Given the description of an element on the screen output the (x, y) to click on. 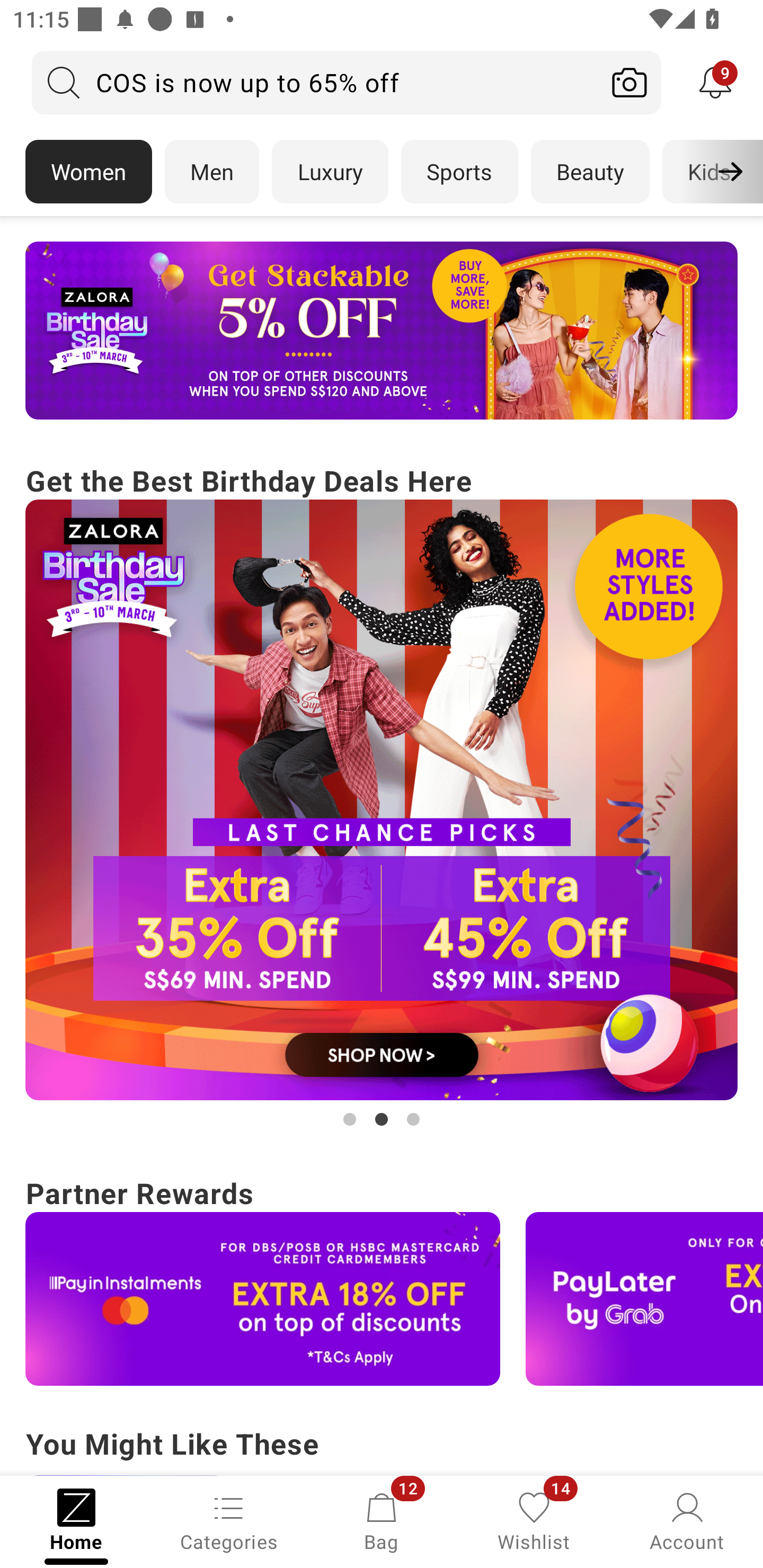
COS is now up to 65% off (314, 82)
Women (88, 171)
Men (211, 171)
Luxury (329, 171)
Sports (459, 171)
Beauty (590, 171)
Campaign banner (381, 330)
Get the Best Birthday Deals Here Campaign banner (381, 794)
Campaign banner (381, 800)
Partner Rewards Campaign banner Campaign banner (381, 1277)
Campaign banner (262, 1299)
Campaign banner (644, 1299)
Categories (228, 1519)
Bag, 12 new notifications Bag (381, 1519)
Wishlist, 14 new notifications Wishlist (533, 1519)
Account (686, 1519)
